Given the description of an element on the screen output the (x, y) to click on. 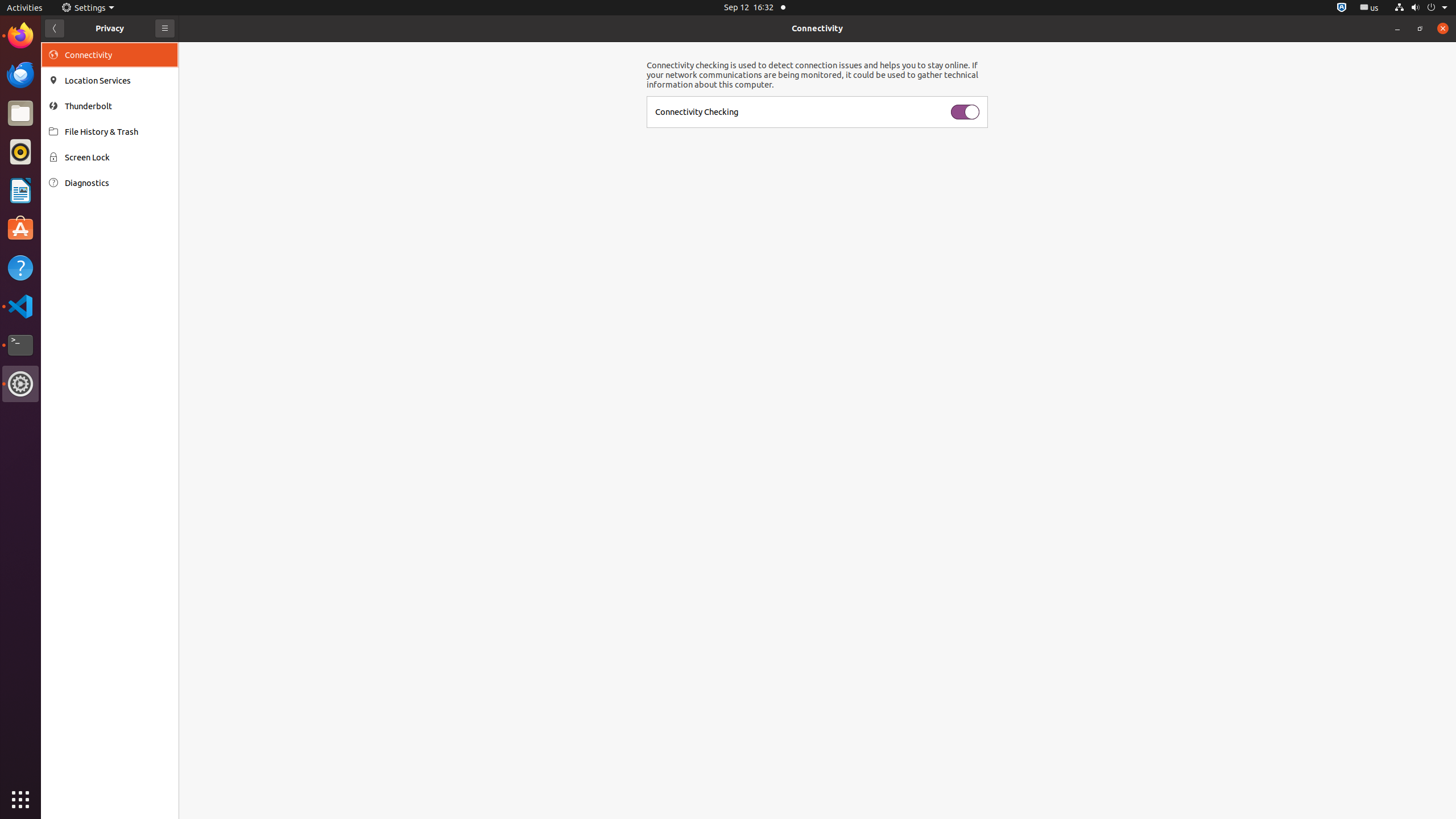
Close Element type: push-button (1442, 27)
Location Services Element type: label (117, 80)
